Given the description of an element on the screen output the (x, y) to click on. 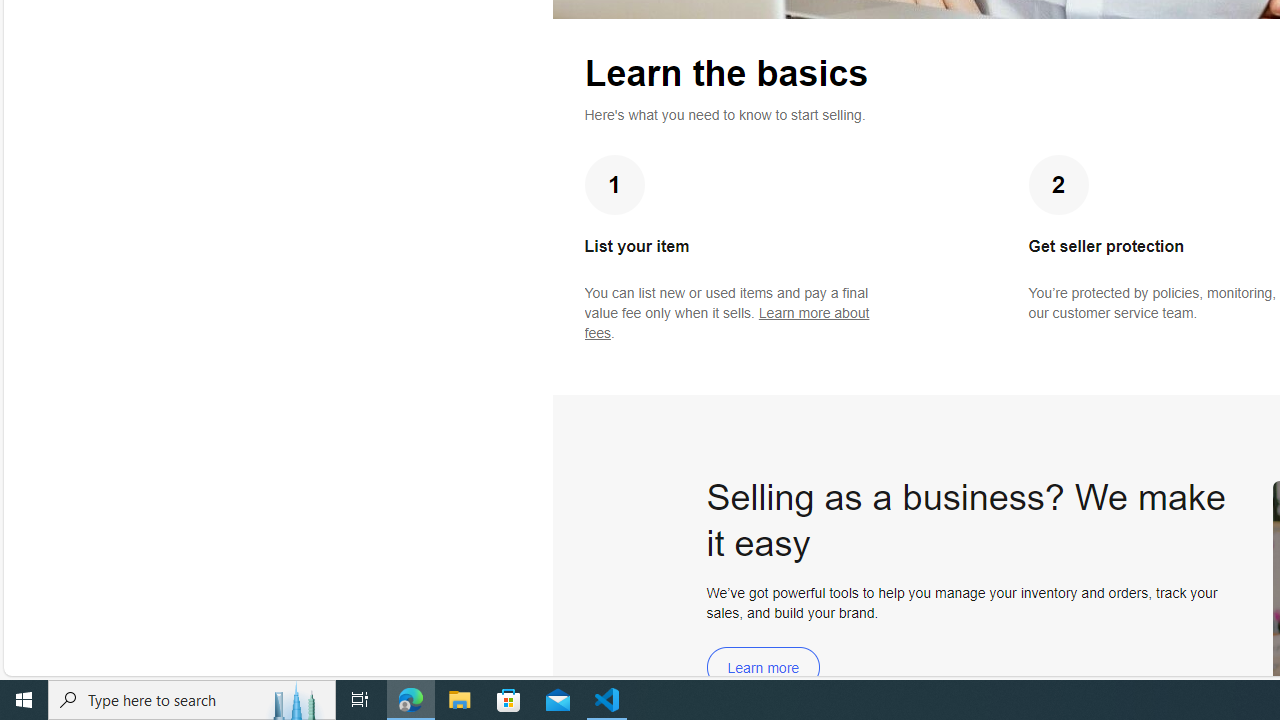
Learn more about fees - opens in new window or tab. (726, 323)
Learn more (763, 667)
